Given the description of an element on the screen output the (x, y) to click on. 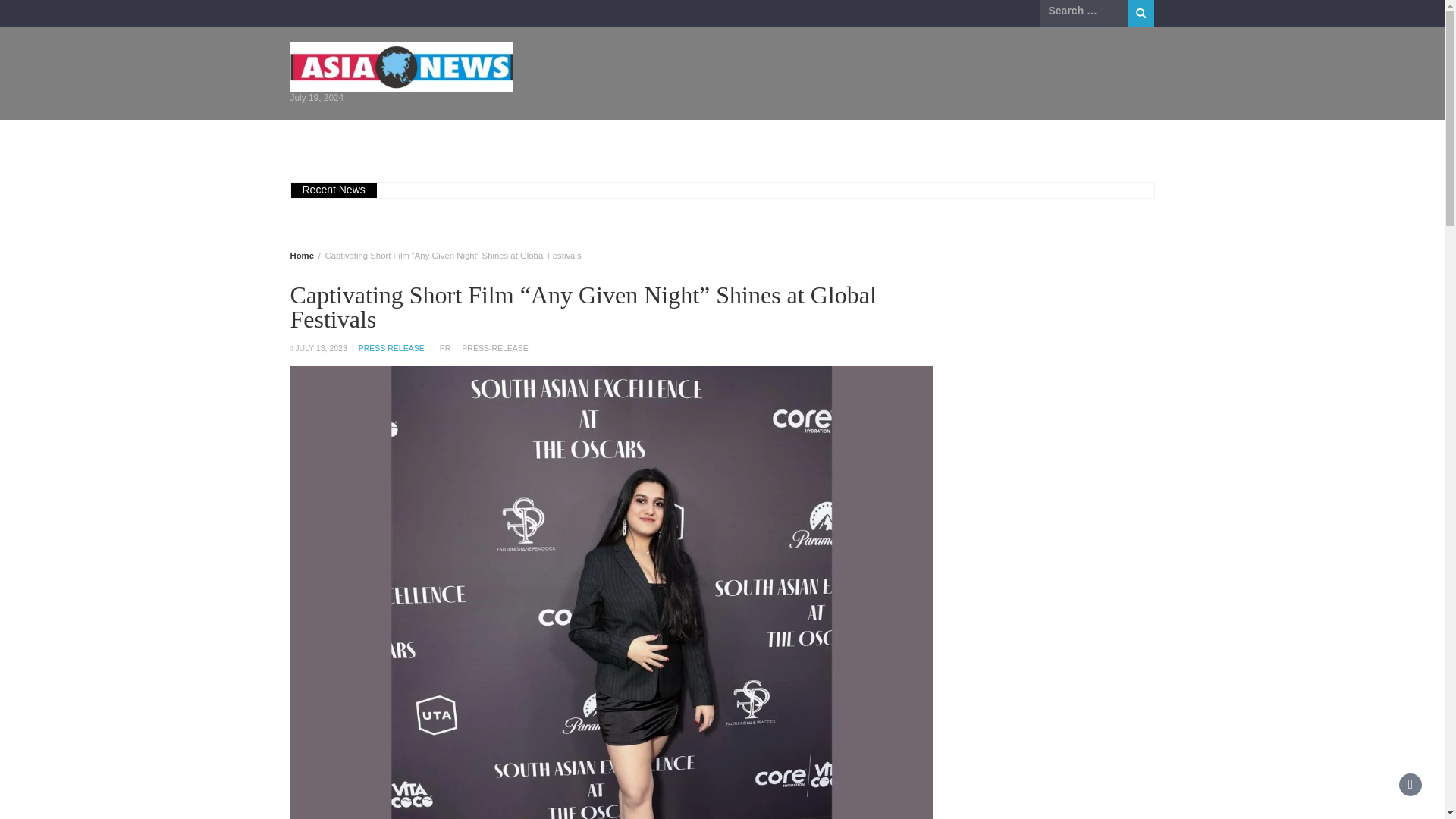
National (657, 139)
Press Release (900, 139)
Search (1140, 13)
Search (1140, 13)
PR (445, 347)
Business (394, 139)
Entertainment (567, 139)
JULY 13, 2023 (321, 347)
PRESS-RELEASE (494, 347)
Search for: (1083, 11)
Search (1140, 13)
World (817, 139)
Home (301, 255)
PRESS RELEASE (391, 347)
Home (323, 139)
